Given the description of an element on the screen output the (x, y) to click on. 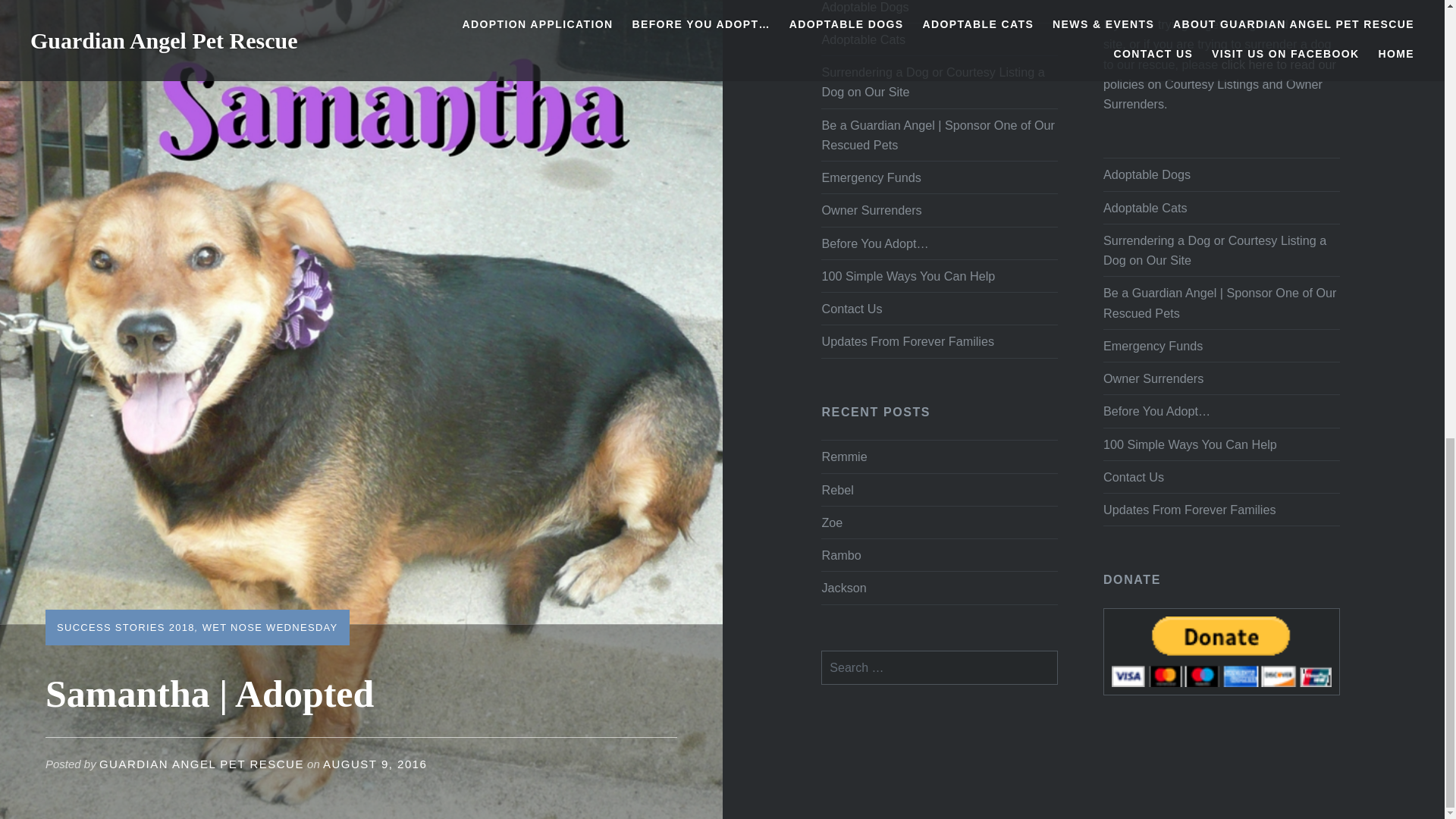
100 Simple Ways You Can Help (1221, 444)
Surrendering a Dog or Courtesy Listing a Dog on Our Site (939, 81)
Adoptable Cats (939, 39)
Owner Surrenders (939, 210)
Emergency Funds (1221, 345)
Emergency Funds (939, 177)
Updates From Forever Families (939, 341)
Surrendering a Dog or Courtesy Listing a Dog on Our Site (1221, 250)
Adoptable Dogs (1221, 174)
Owner Surrenders (1221, 377)
Contact Us (1221, 477)
Contact Us (939, 308)
Adoptable Dogs (939, 11)
100 Simple Ways You Can Help (939, 275)
